Given the description of an element on the screen output the (x, y) to click on. 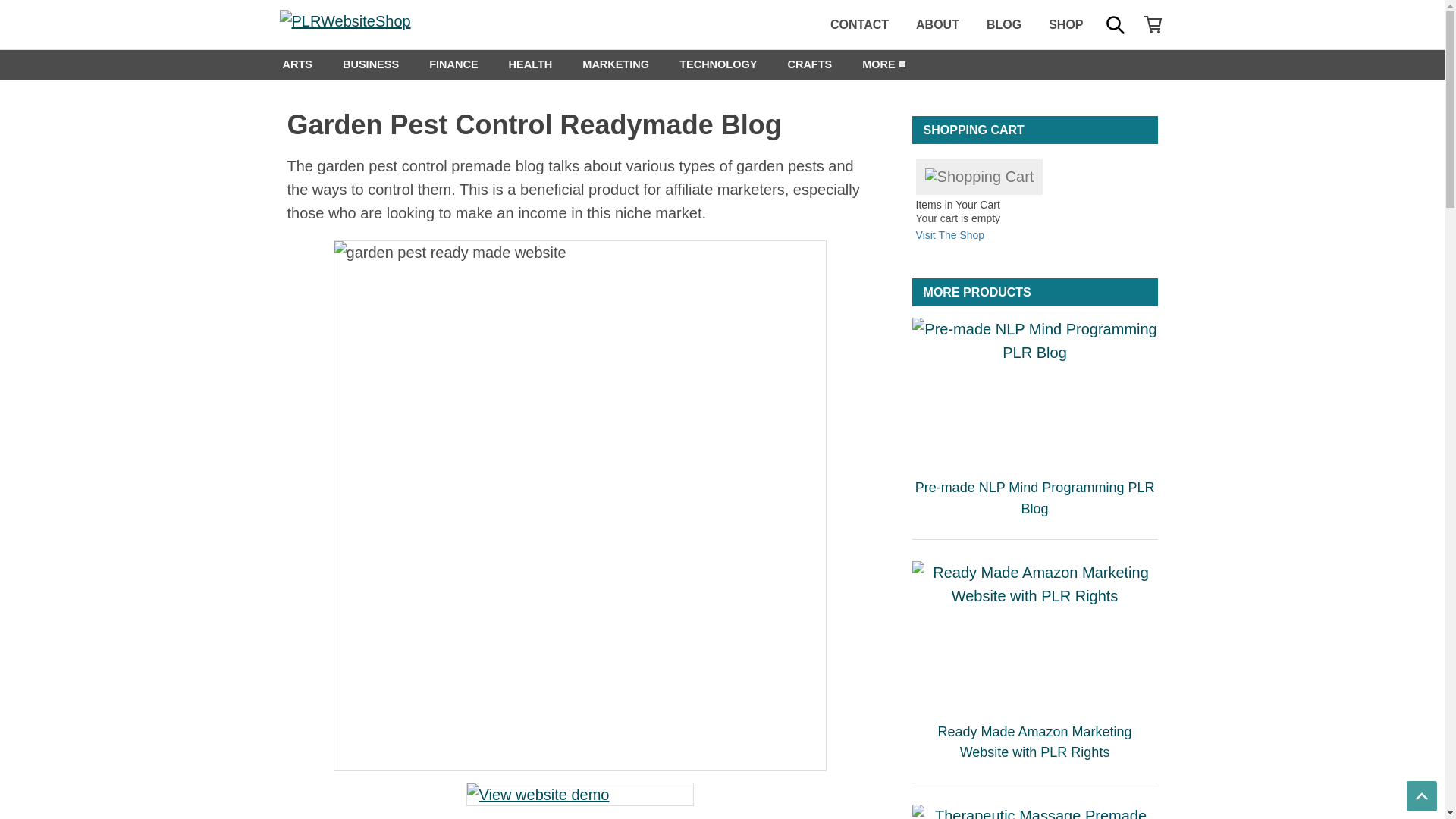
MARKETING (615, 64)
Blog Demo (579, 794)
Pre-made NLP Mind Programming PLR Blog (1034, 391)
FINANCE (453, 64)
Shopping Cart (979, 176)
ARTS (296, 64)
MORE (879, 64)
BLOG (1003, 23)
TECHNOLOGY (717, 64)
SEARCH (1114, 23)
Ready Made Amazon Marketing Website with PLR Rights (1034, 634)
CRAFTS (809, 64)
CONTACT (859, 23)
HEALTH (530, 64)
